Given the description of an element on the screen output the (x, y) to click on. 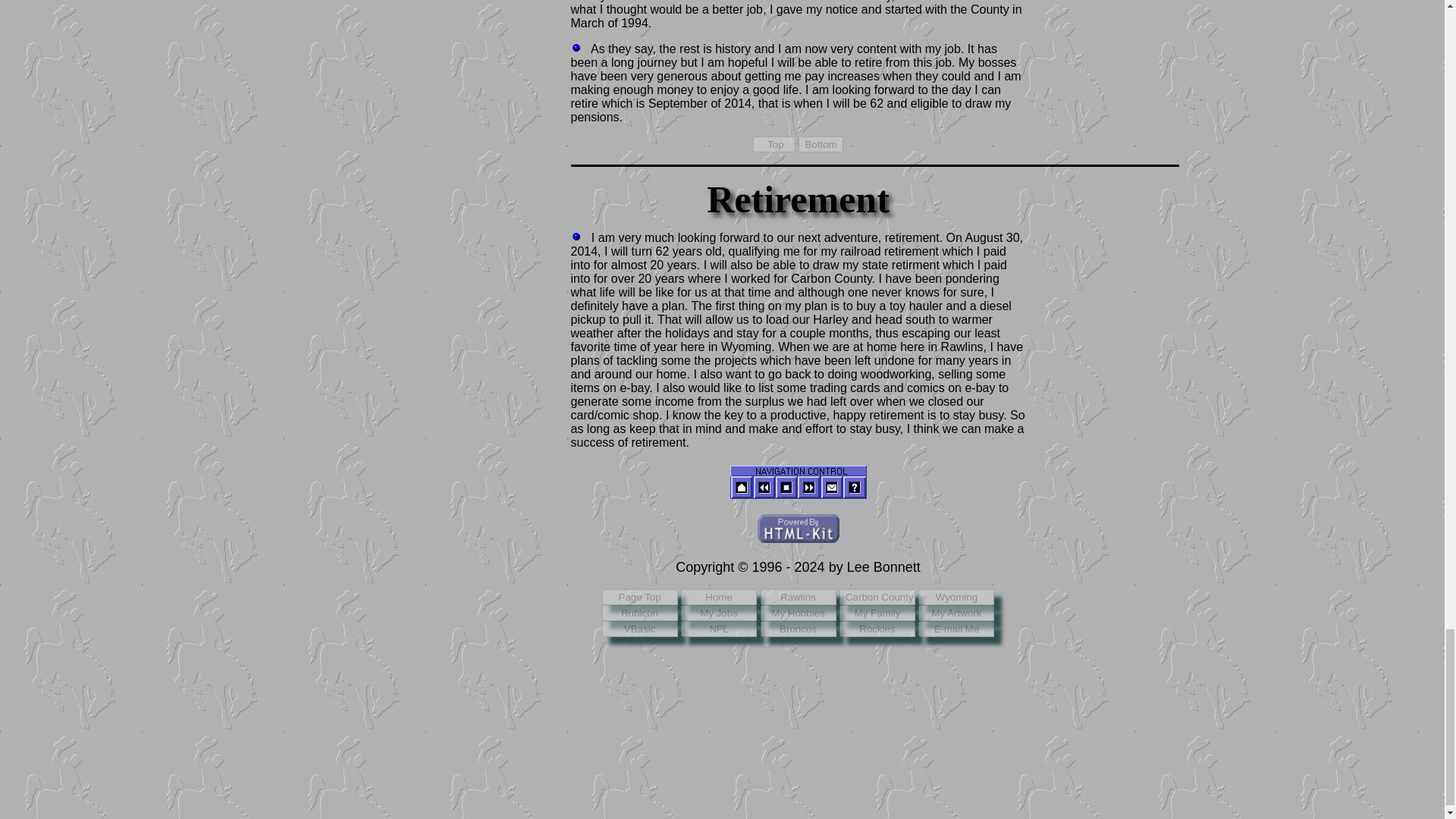
Carbon County (877, 596)
Home Page (740, 486)
Previous (763, 486)
Help (854, 486)
Rawlins (797, 596)
E-mail (832, 486)
Bottom (820, 144)
Wyoming (956, 596)
Rubicon (640, 612)
Home (719, 596)
Next (809, 486)
Page Top (640, 596)
Go To The HTML-Kit Website (797, 528)
Reload (785, 486)
